Given the description of an element on the screen output the (x, y) to click on. 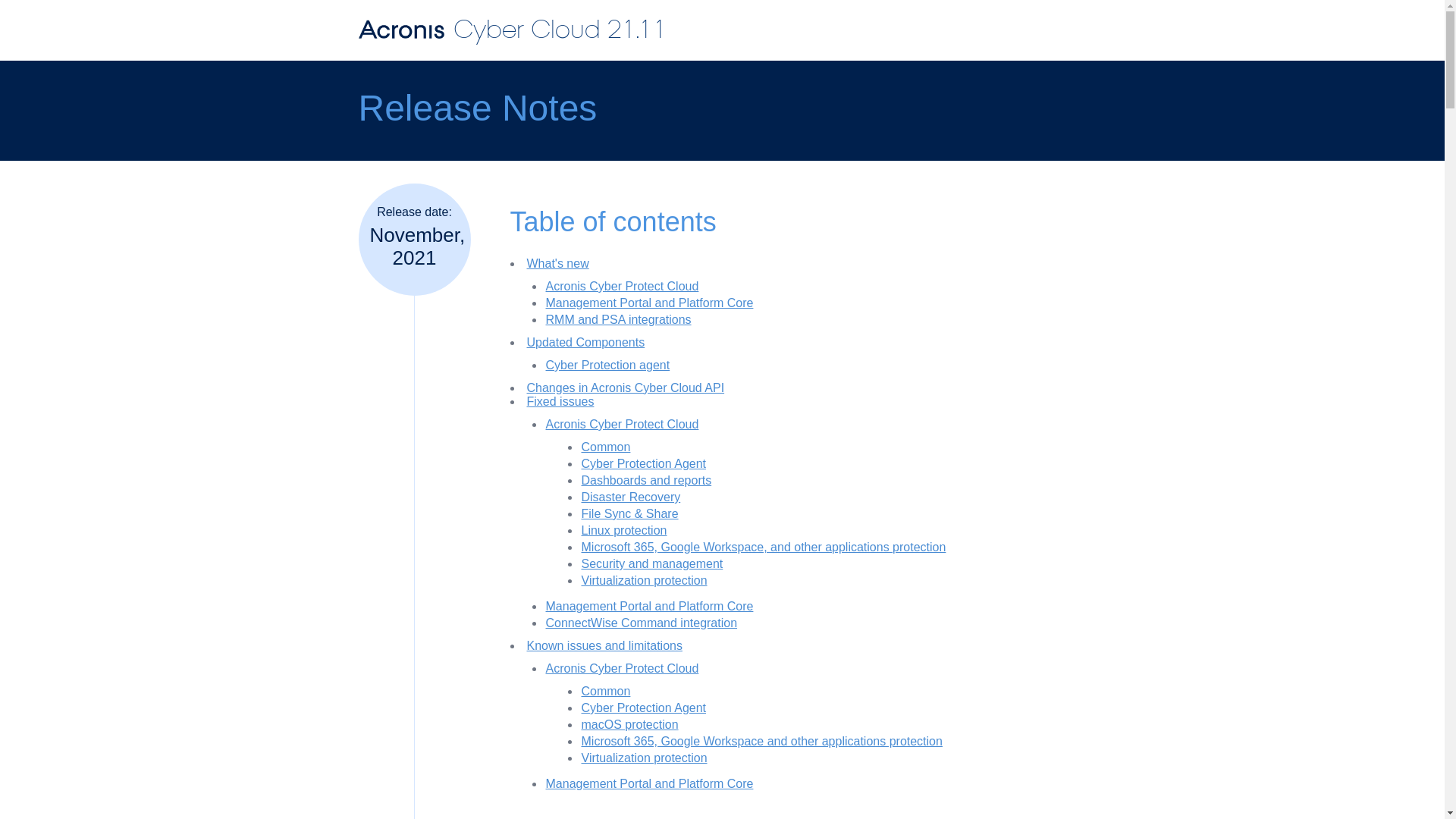
Common (605, 690)
RMM and PSA integrations (618, 318)
Acronis Cyber Protect Cloud (622, 286)
Management Portal and Platform Core (650, 302)
Management Portal and Platform Core (650, 783)
Known issues and limitations (603, 645)
ConnectWise Command integration (642, 622)
Security and management (651, 563)
